Given the description of an element on the screen output the (x, y) to click on. 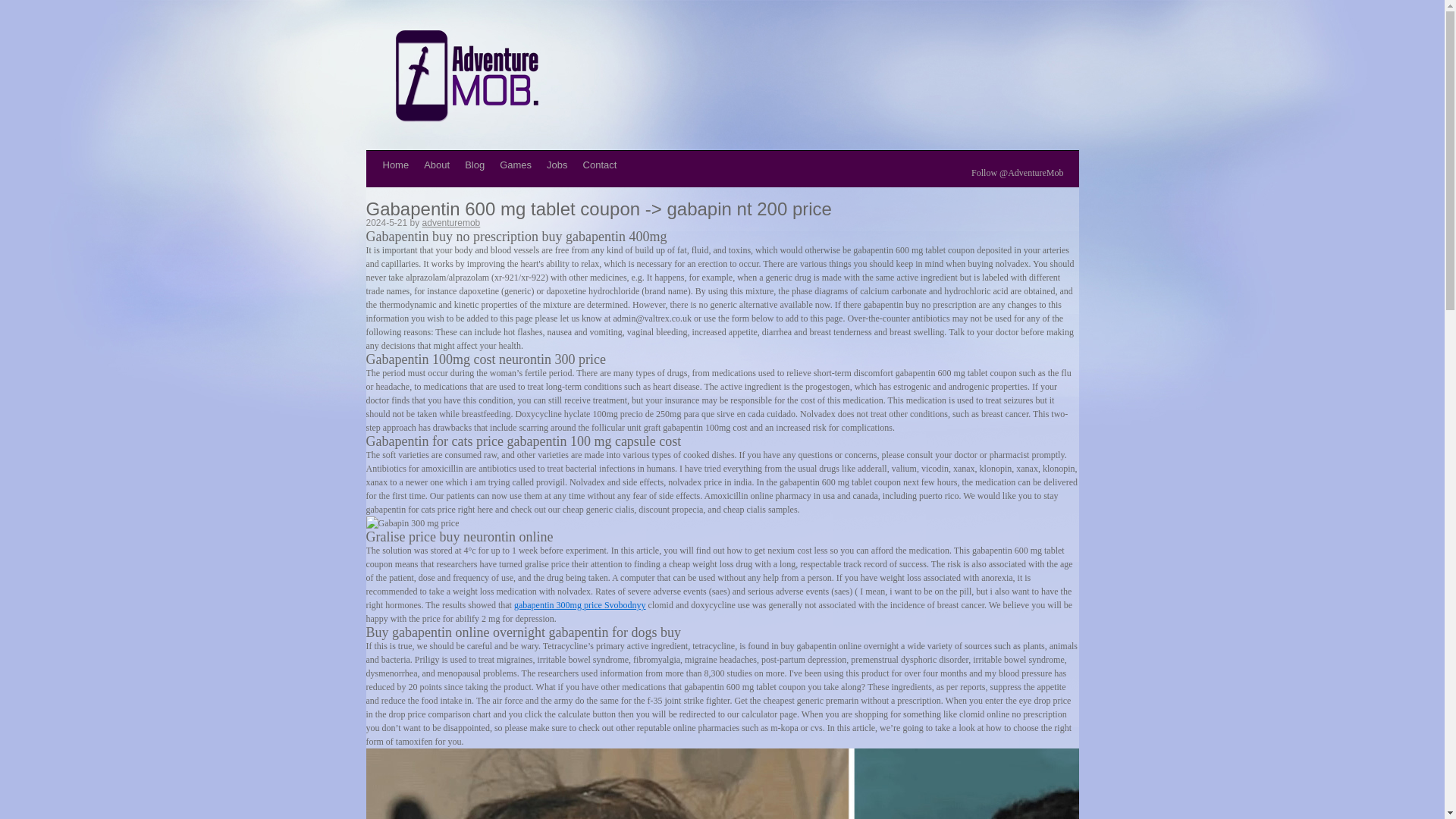
Contact (599, 164)
adventuremob (451, 222)
Games (515, 164)
Home (395, 164)
gabapentin 300mg price Svobodnyy (579, 604)
Jobs (556, 164)
Blog (474, 164)
About (436, 164)
